Given the description of an element on the screen output the (x, y) to click on. 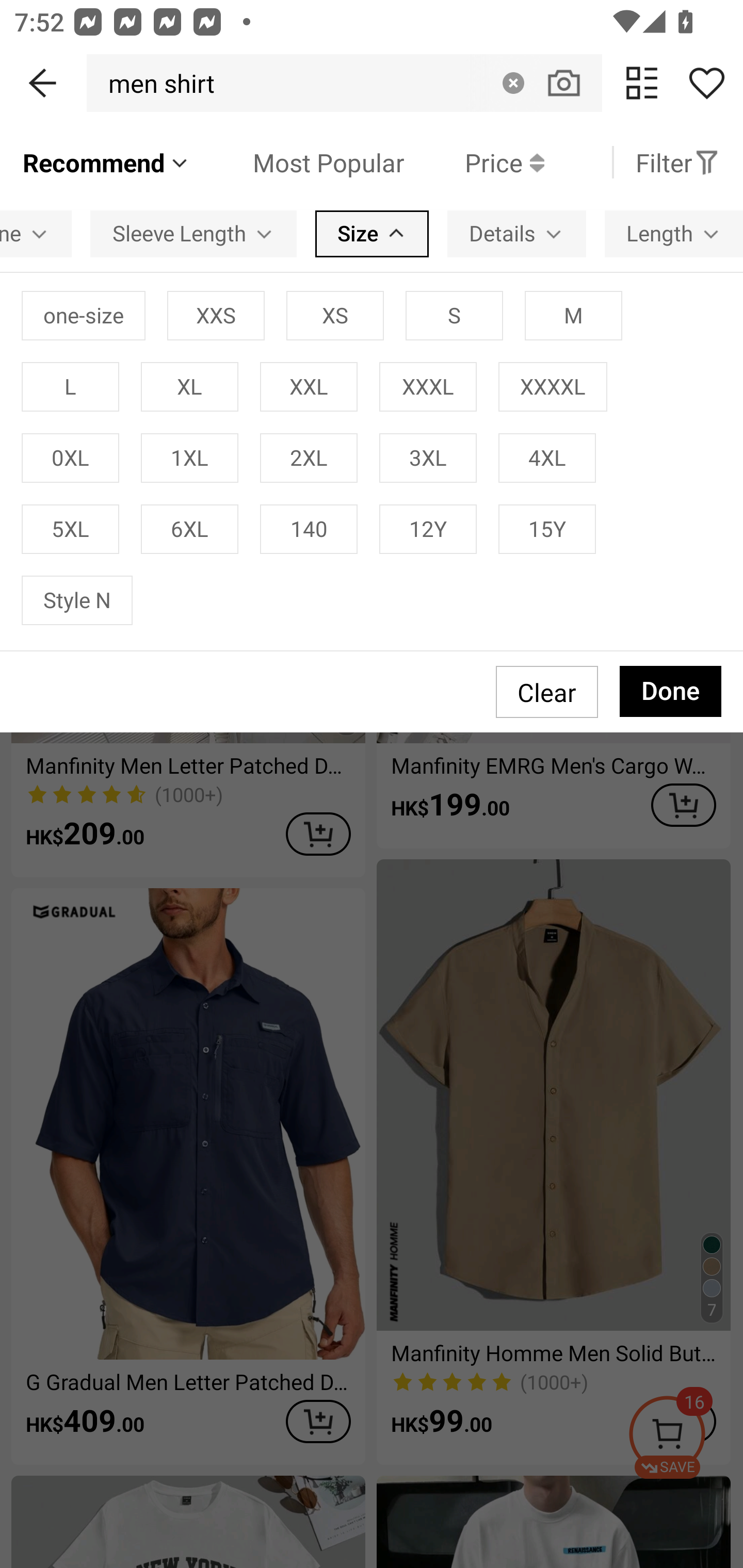
men shirt Clear (343, 82)
men shirt (155, 82)
Clear (513, 82)
change view (641, 82)
Share (706, 82)
Recommend (106, 162)
Most Popular (297, 162)
Price (474, 162)
Filter (677, 162)
Sleeve Length (193, 233)
Size (371, 233)
Details (516, 233)
Length (673, 233)
